Given the description of an element on the screen output the (x, y) to click on. 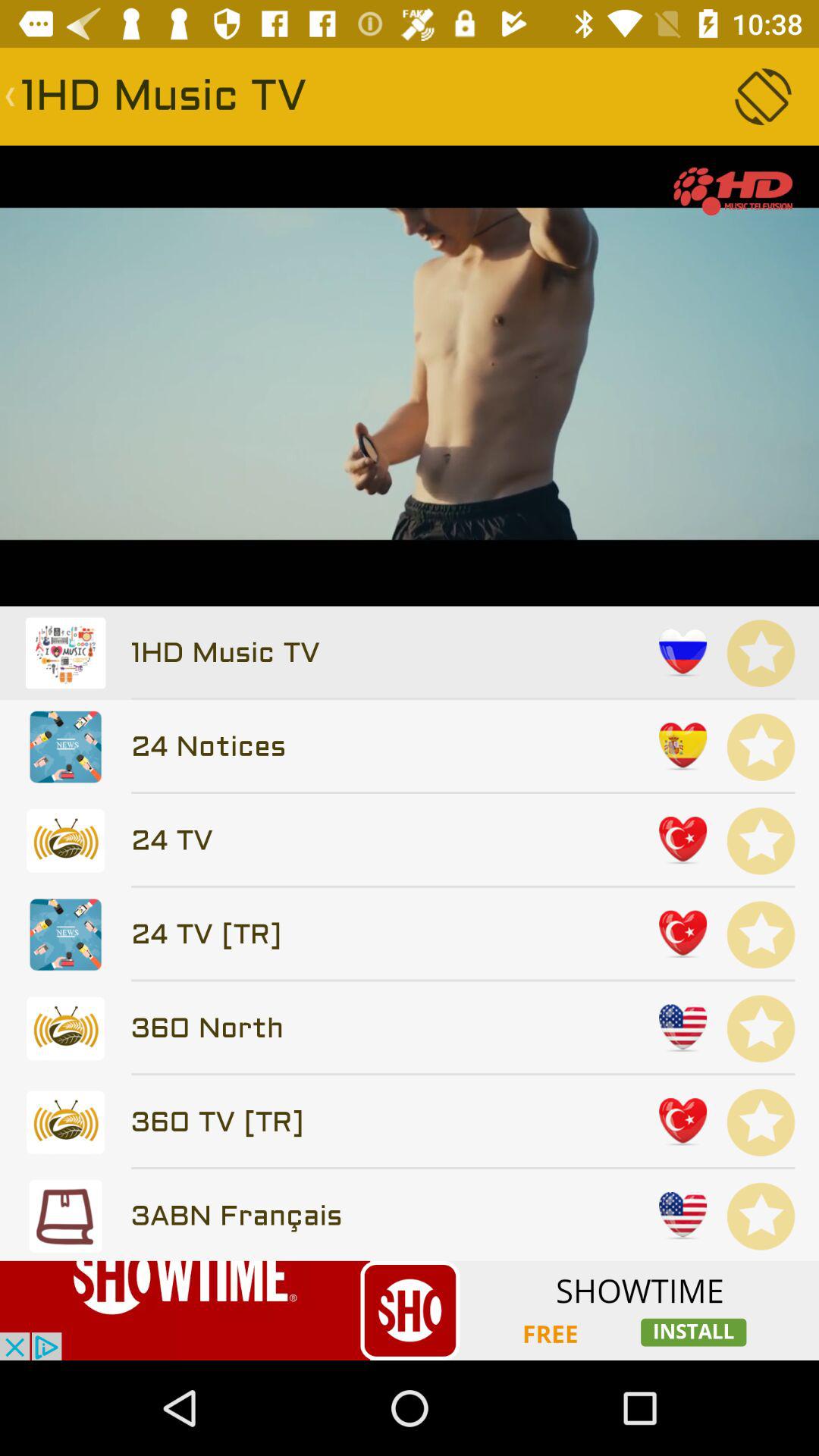
details about advertisement (409, 1310)
